Given the description of an element on the screen output the (x, y) to click on. 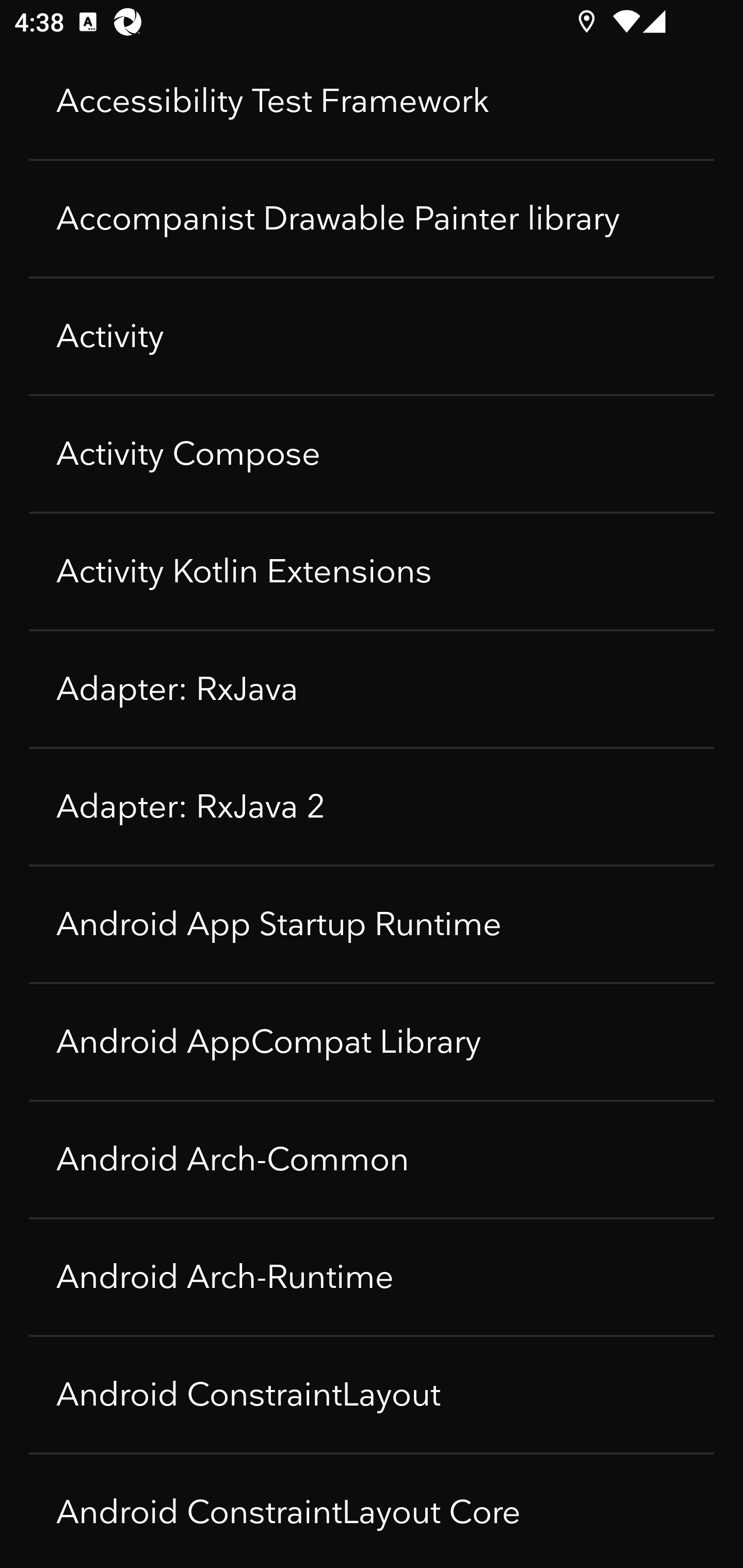
Accessibility Test Framework (371, 100)
Accompanist Drawable Painter library (371, 218)
Activity (371, 336)
Activity Compose (371, 453)
Activity Kotlin Extensions (371, 571)
Adapter: RxJava (371, 688)
Adapter: RxJava 2 (371, 806)
Android App Startup Runtime (371, 924)
Android AppCompat Library (371, 1041)
Android Arch-Common (371, 1159)
Android Arch-Runtime (371, 1276)
Android ConstraintLayout (371, 1394)
Android ConstraintLayout Core (371, 1511)
